Given the description of an element on the screen output the (x, y) to click on. 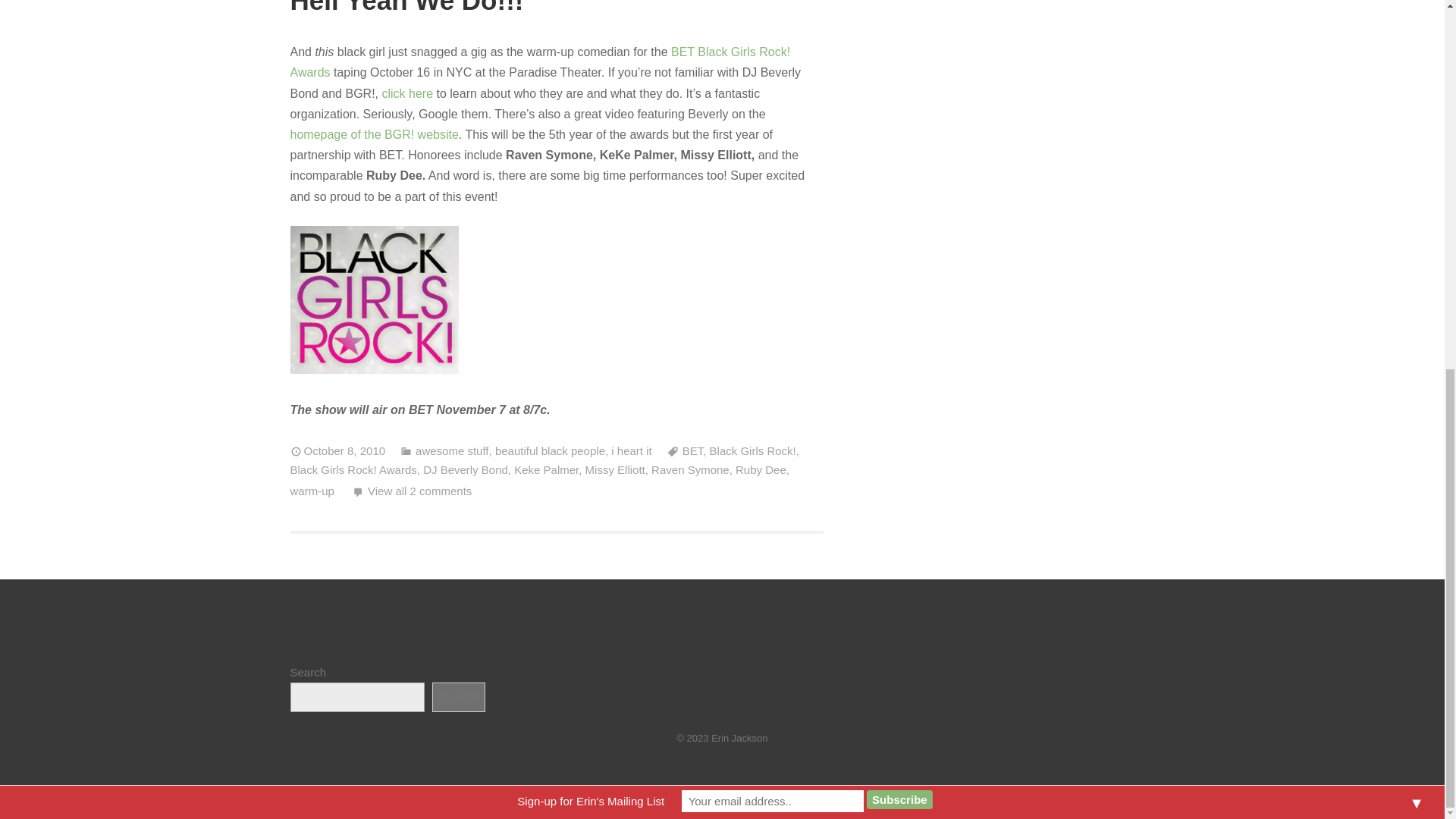
beautiful black people (550, 450)
awesome stuff (443, 450)
homepage of the BGR! website (373, 133)
October 8, 2010 (337, 450)
Black Girls Rock! (753, 450)
Black Girls Rock! Awards (352, 469)
Keke Palmer (545, 469)
Missy Elliott (615, 469)
DJ Beverly Bond (465, 469)
i heart it (630, 450)
click here (408, 92)
BET (684, 450)
Search (458, 697)
Raven Symone (689, 469)
bgr (373, 299)
